Given the description of an element on the screen output the (x, y) to click on. 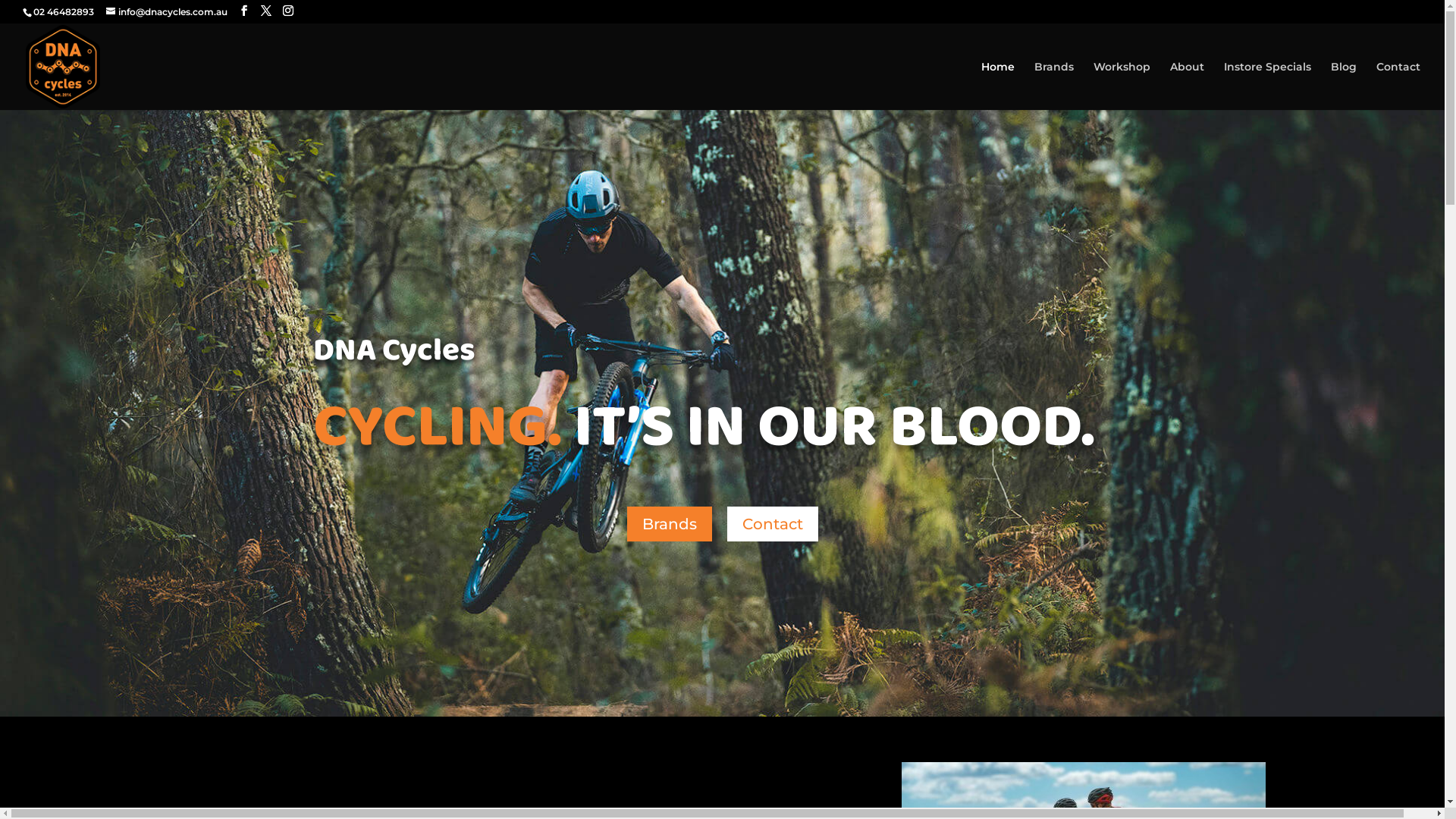
Contact Element type: text (1398, 85)
Brands Element type: text (1053, 85)
About Element type: text (1187, 85)
Home Element type: text (997, 85)
Contact Element type: text (771, 523)
Workshop Element type: text (1121, 85)
Brands Element type: text (668, 523)
Instore Specials Element type: text (1267, 85)
info@dnacycles.com.au Element type: text (166, 11)
Blog Element type: text (1343, 85)
